Given the description of an element on the screen output the (x, y) to click on. 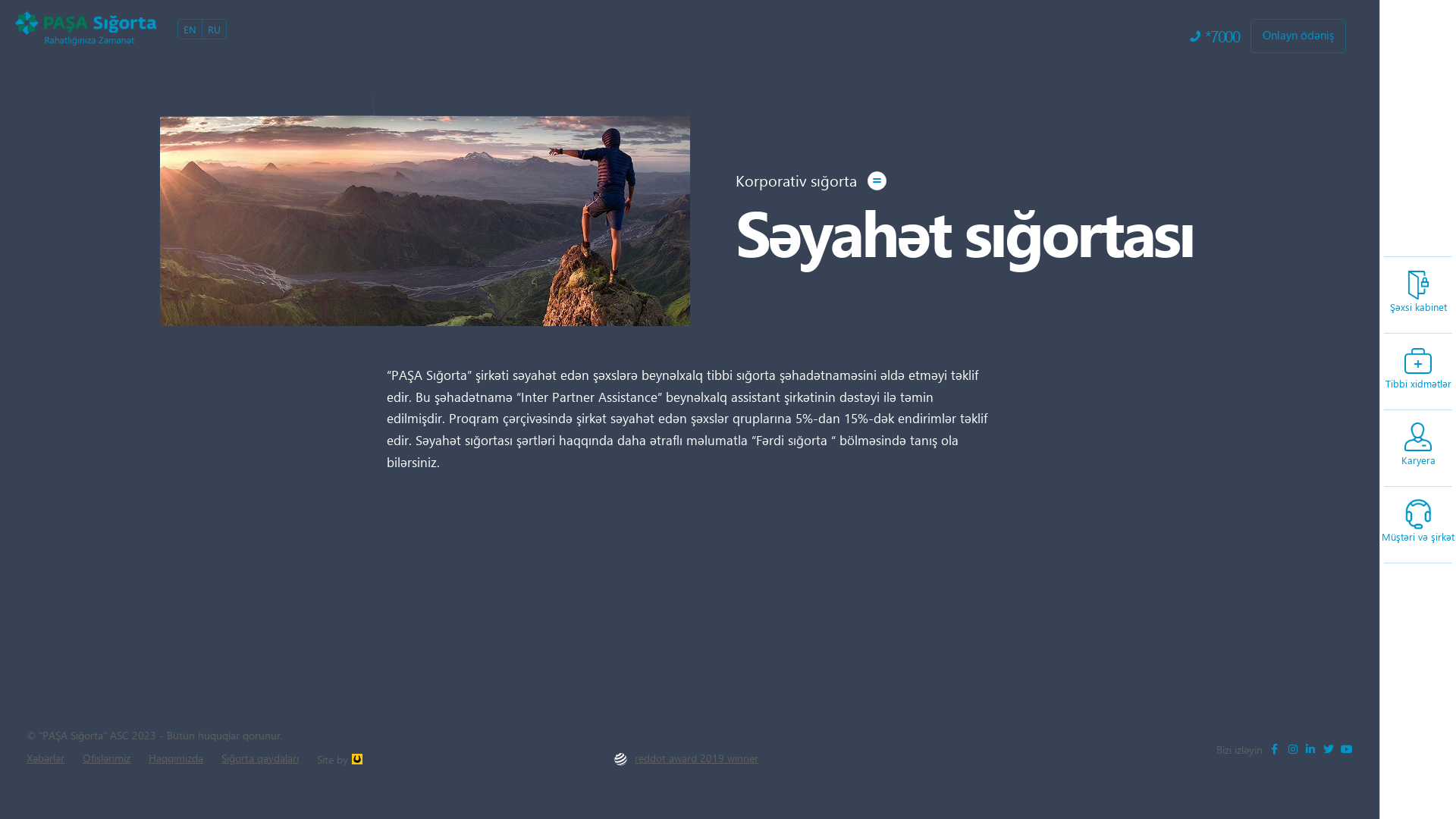
*7000 Element type: text (1214, 35)
Site by GoCreative Element type: text (359, 780)
reddot award 2019 winner Element type: text (686, 757)
Optimal KASKO Element type: text (759, 454)
RU Element type: text (213, 29)
Parkinq KASKO Element type: text (621, 454)
Sual-cavab Element type: text (782, 574)
EN Element type: text (189, 29)
Tam KASKO Element type: text (759, 436)
Site by Element type: text (998, 574)
Site by Element type: text (339, 757)
